Given the description of an element on the screen output the (x, y) to click on. 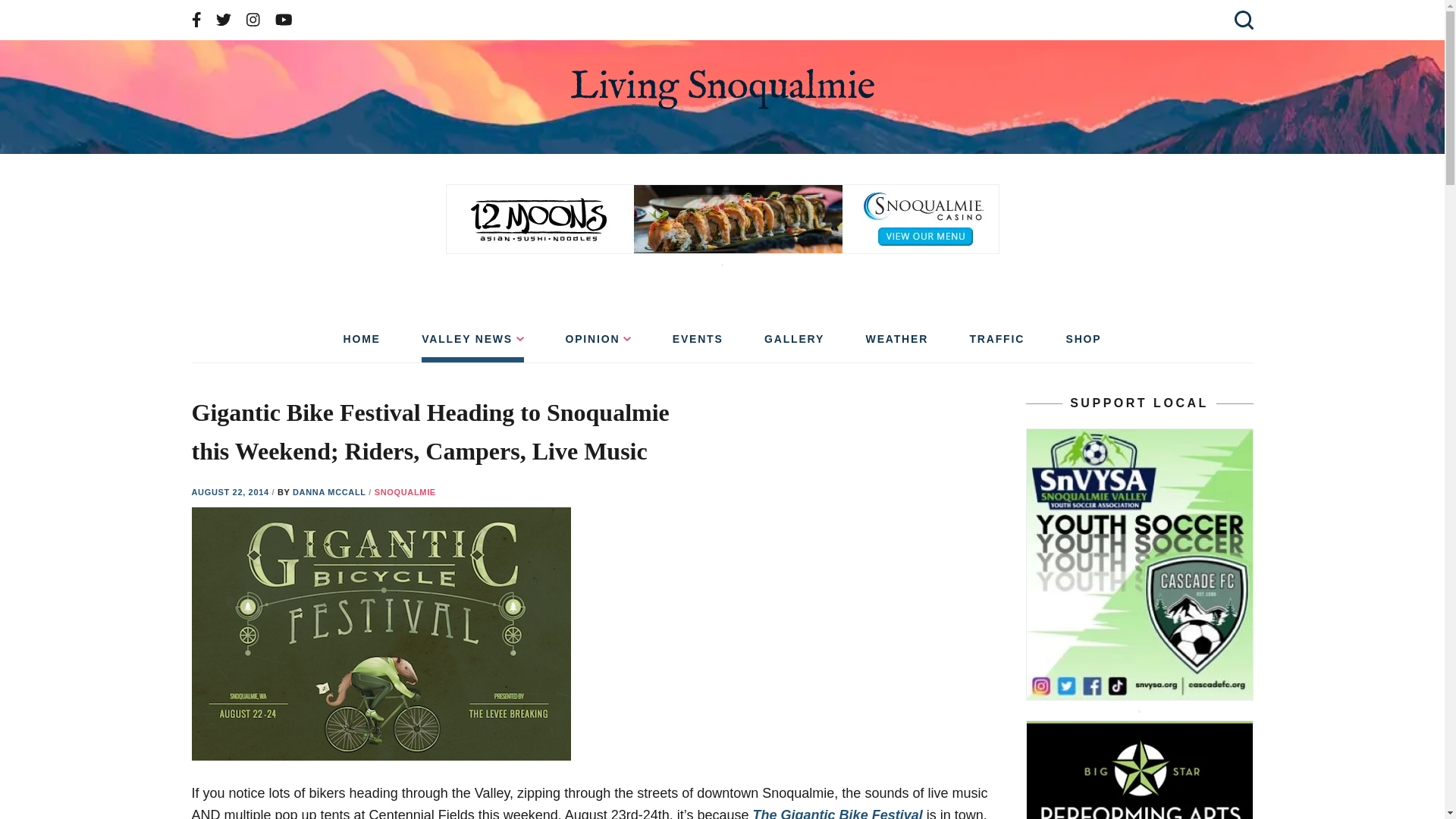
HOME (361, 344)
OPINION (597, 344)
SEARCH (1240, 19)
Instagram (253, 19)
SHOP (1083, 344)
YouTube (283, 19)
EVENTS (697, 344)
VALLEY NEWS (473, 344)
Facebook (195, 19)
DANNA MCCALL (330, 491)
WEATHER (897, 344)
Twitter (223, 19)
TRAFFIC (997, 344)
The Gigantic Bike Festival (837, 813)
GALLERY (794, 344)
